Given the description of an element on the screen output the (x, y) to click on. 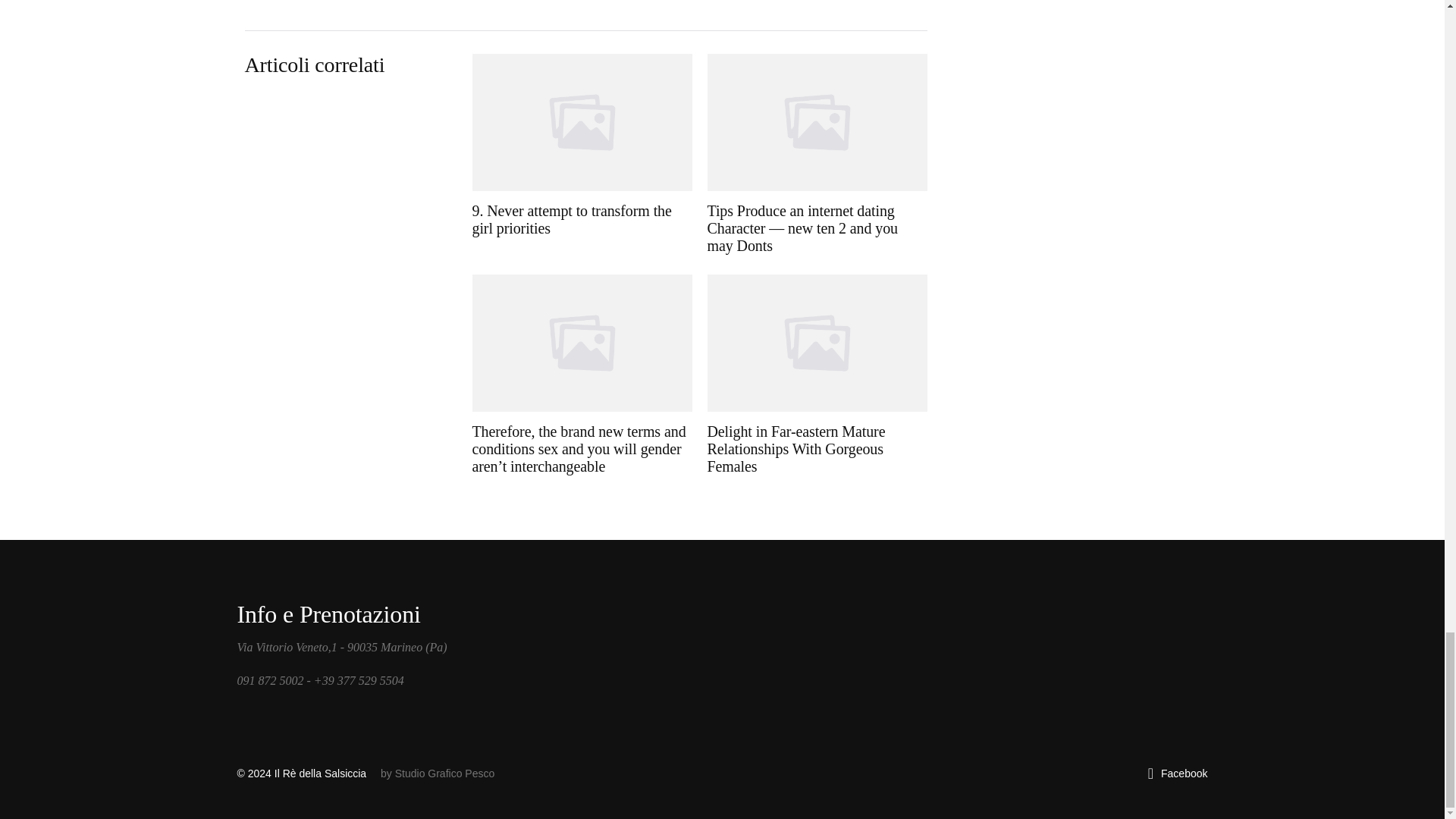
Facebook (1178, 773)
9. Never attempt to transform the girl priorities (581, 154)
Studio Grafico Pesco (444, 773)
9. Never attempt to transform the girl priorities (581, 154)
